Given the description of an element on the screen output the (x, y) to click on. 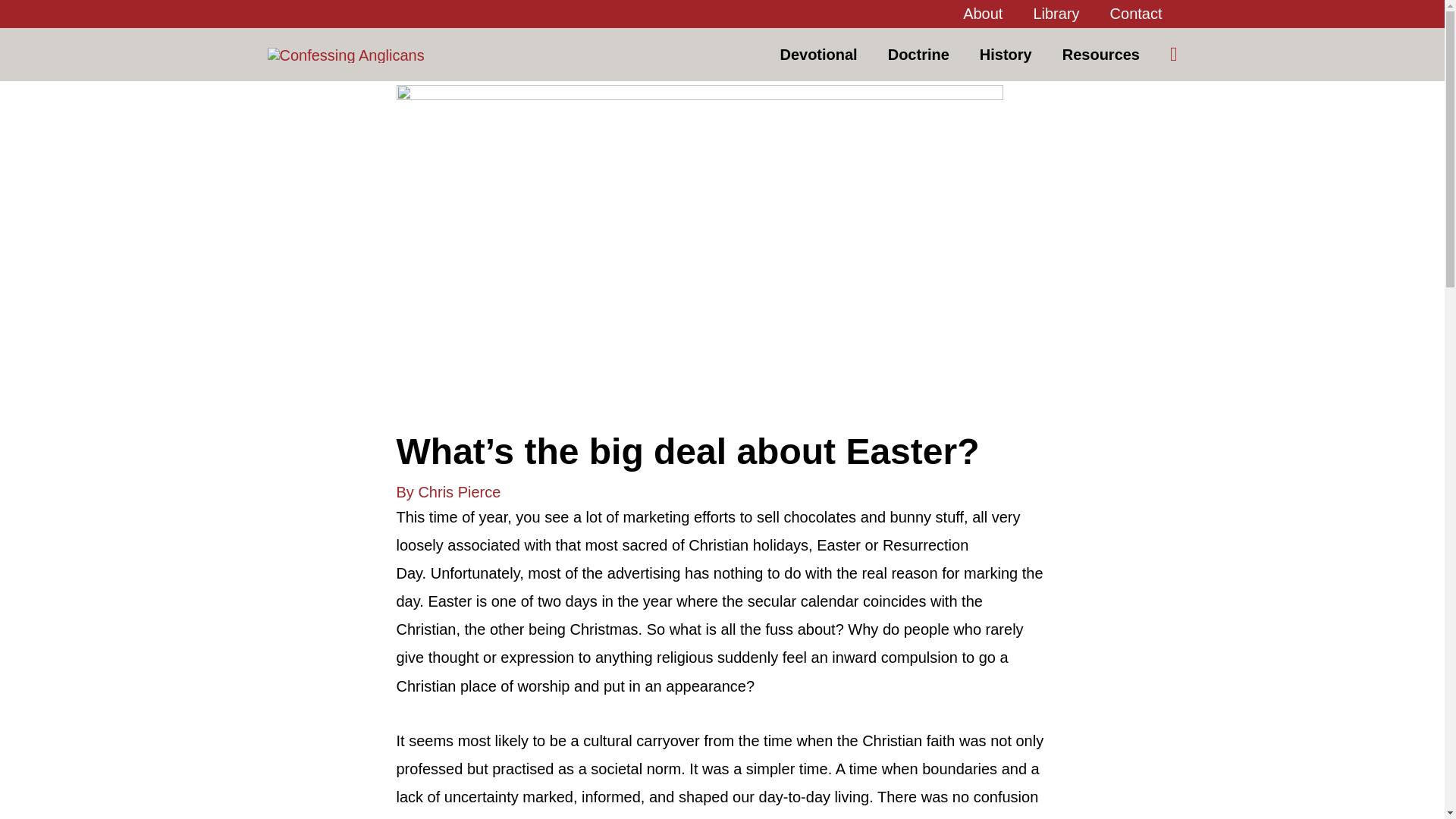
About (982, 13)
Devotional (818, 54)
View all posts by Chris Pierce (458, 492)
Contact (1135, 13)
Resources (1100, 54)
Library (1055, 13)
History (1004, 54)
Doctrine (917, 54)
Chris Pierce (458, 492)
